Given the description of an element on the screen output the (x, y) to click on. 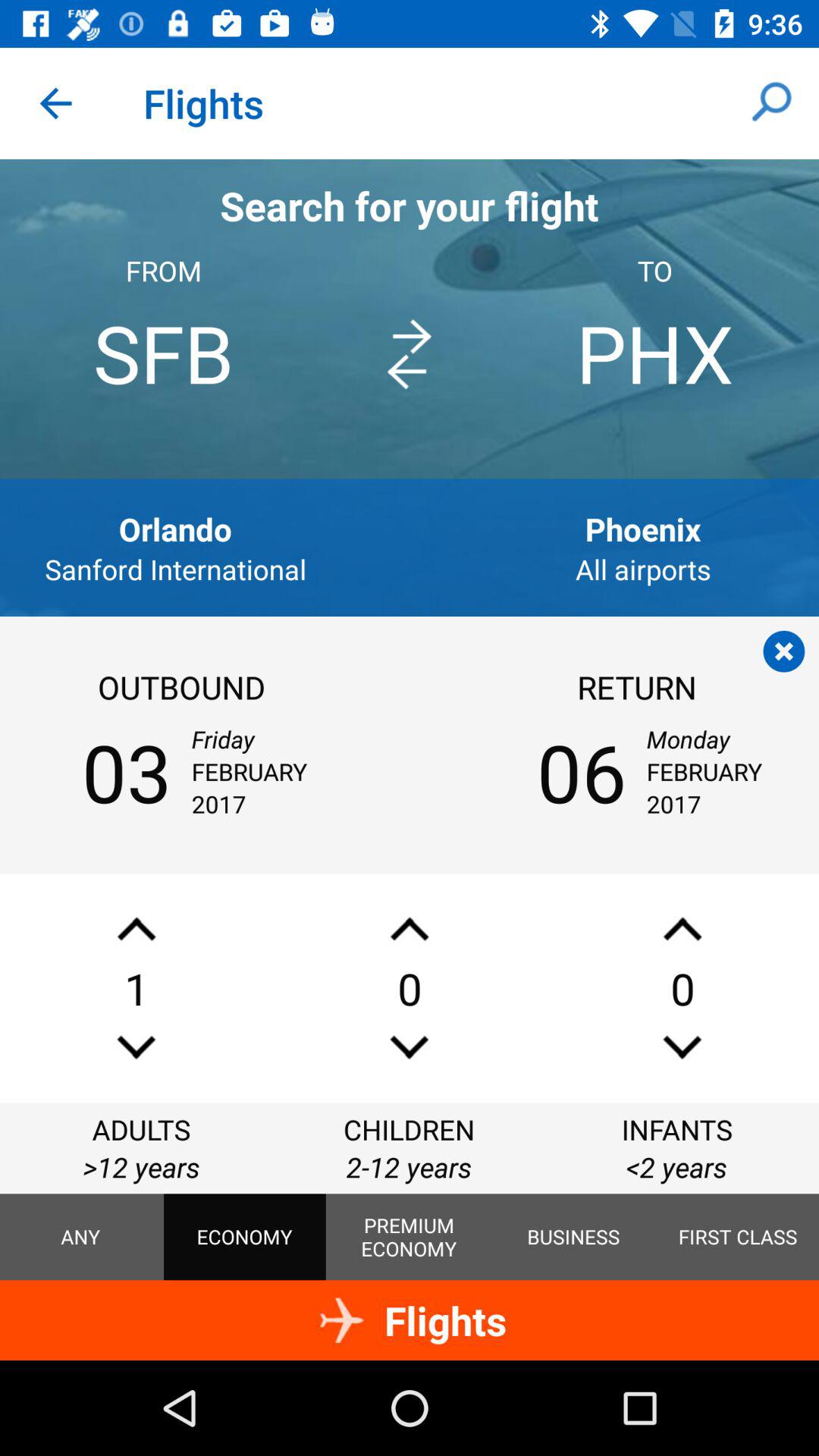
launch item next to phx (408, 354)
